Given the description of an element on the screen output the (x, y) to click on. 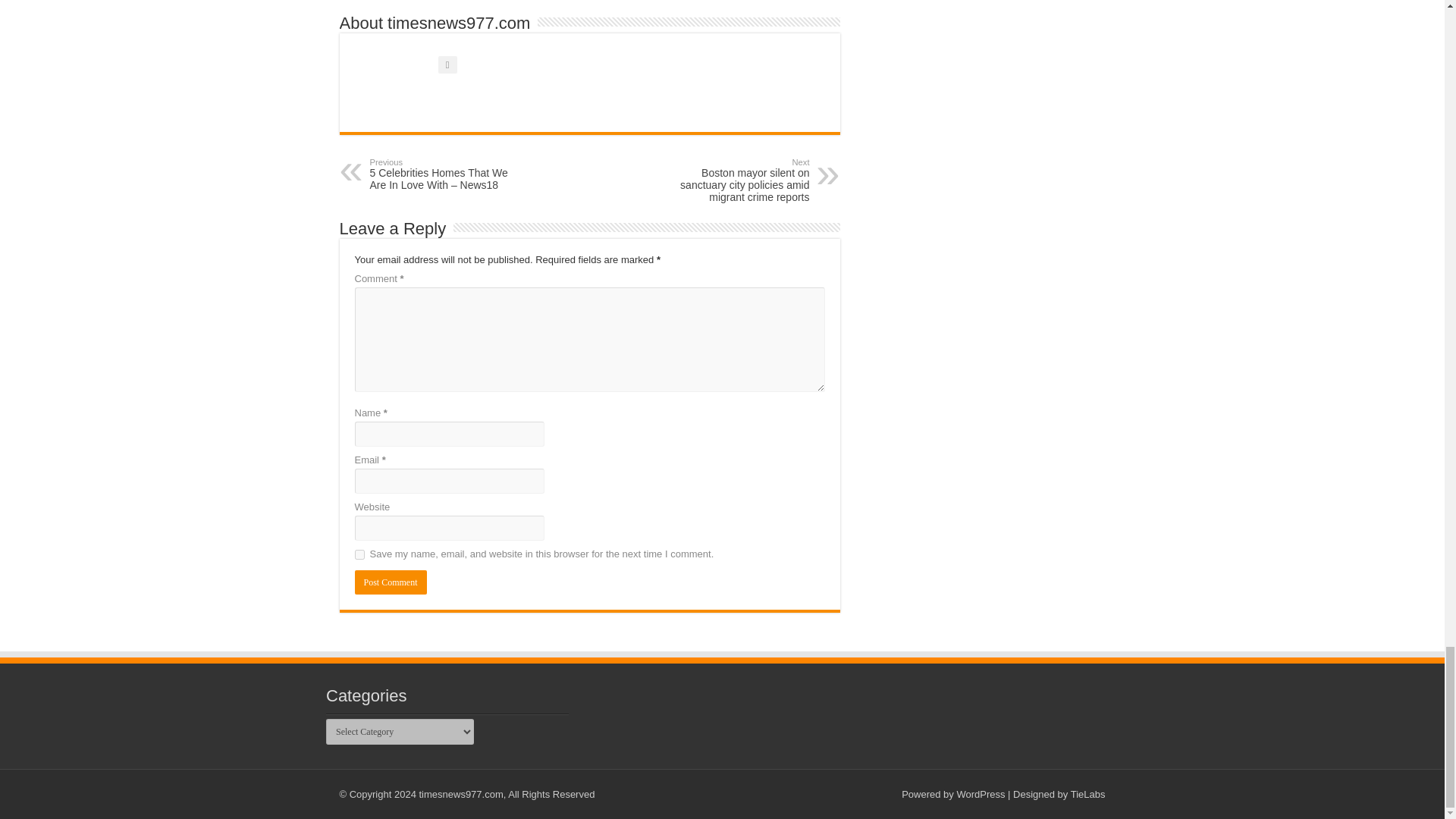
Post Comment (390, 582)
yes (360, 554)
